Given the description of an element on the screen output the (x, y) to click on. 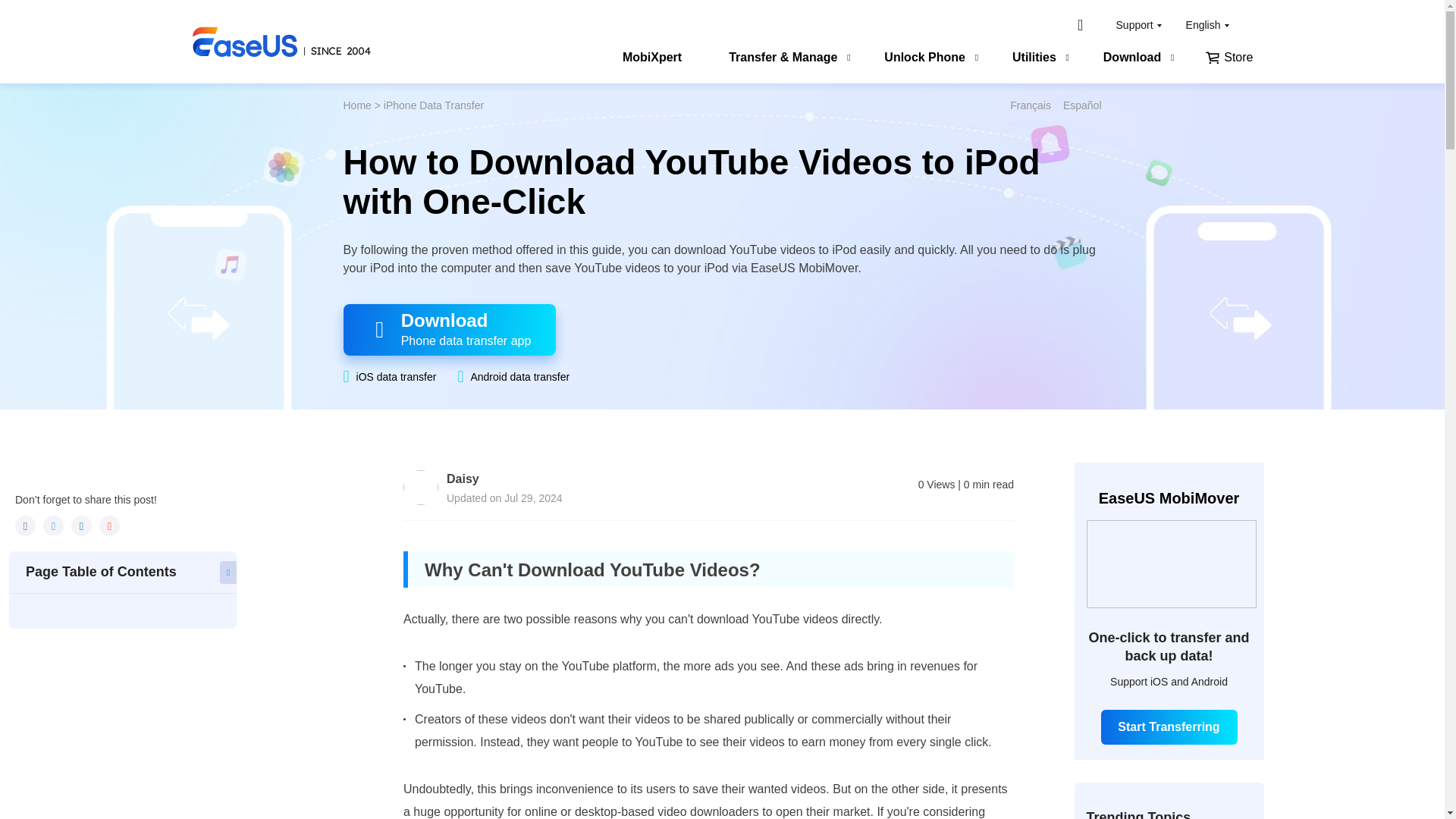
  Store (1228, 59)
iPhone Data Transfer (433, 105)
MobiXpert (651, 59)
Home (356, 105)
